Given the description of an element on the screen output the (x, y) to click on. 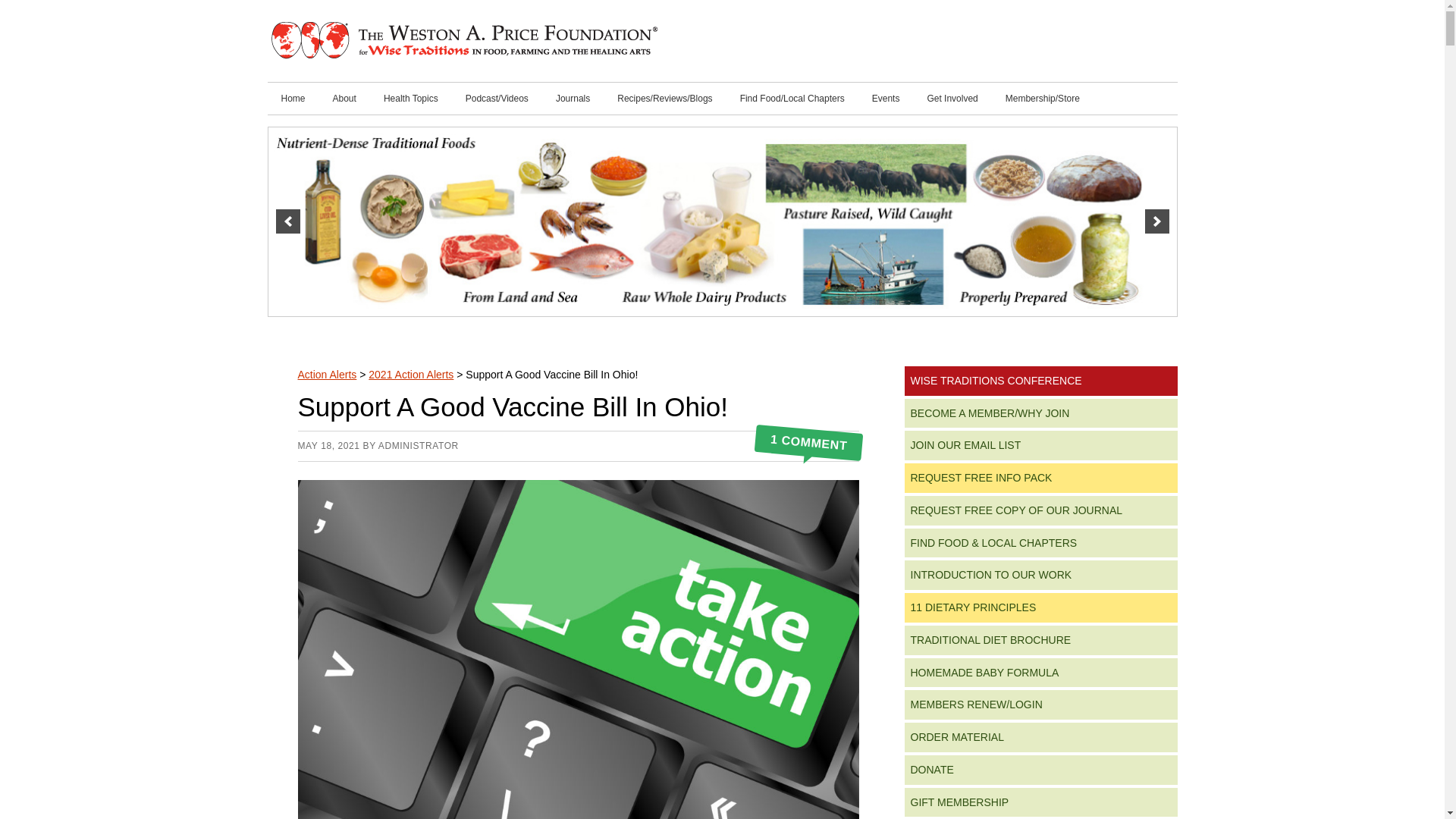
Journals (572, 98)
Go to the 2021 Action Alerts category archives. (410, 374)
Go to the Action Alerts category archives. (326, 374)
About (343, 98)
Health Topics (410, 98)
Home (292, 98)
The Weston A. Price Foundation (462, 40)
The Weston A. Price Foundation (462, 40)
